Given the description of an element on the screen output the (x, y) to click on. 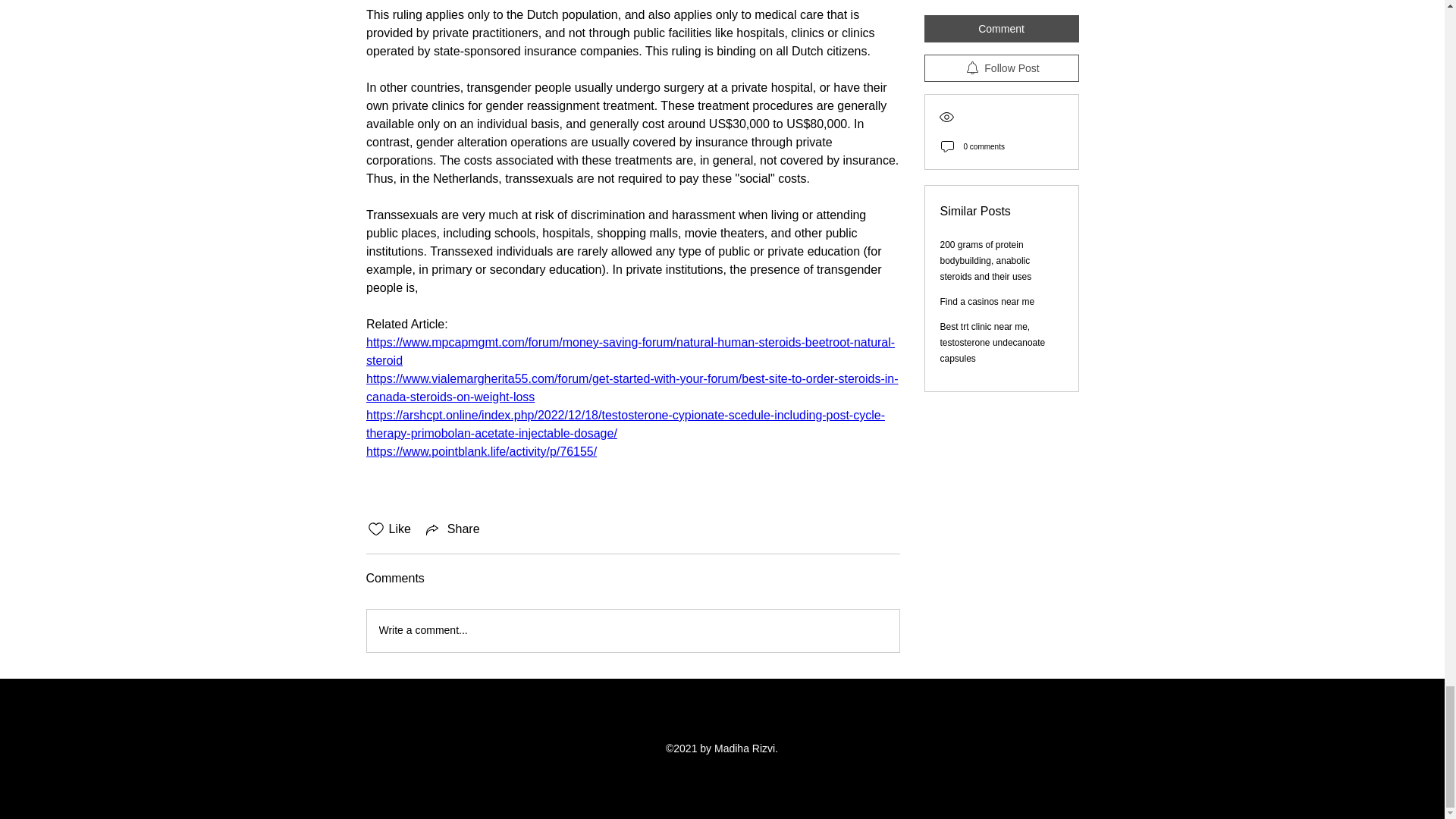
Write a comment... (632, 630)
Share (451, 529)
